Given the description of an element on the screen output the (x, y) to click on. 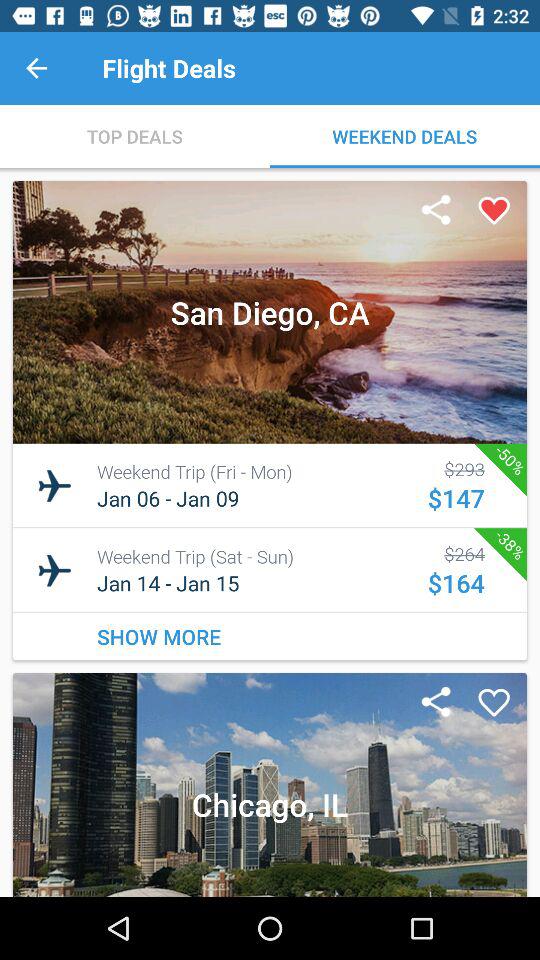
flip to the show more item (269, 636)
